Given the description of an element on the screen output the (x, y) to click on. 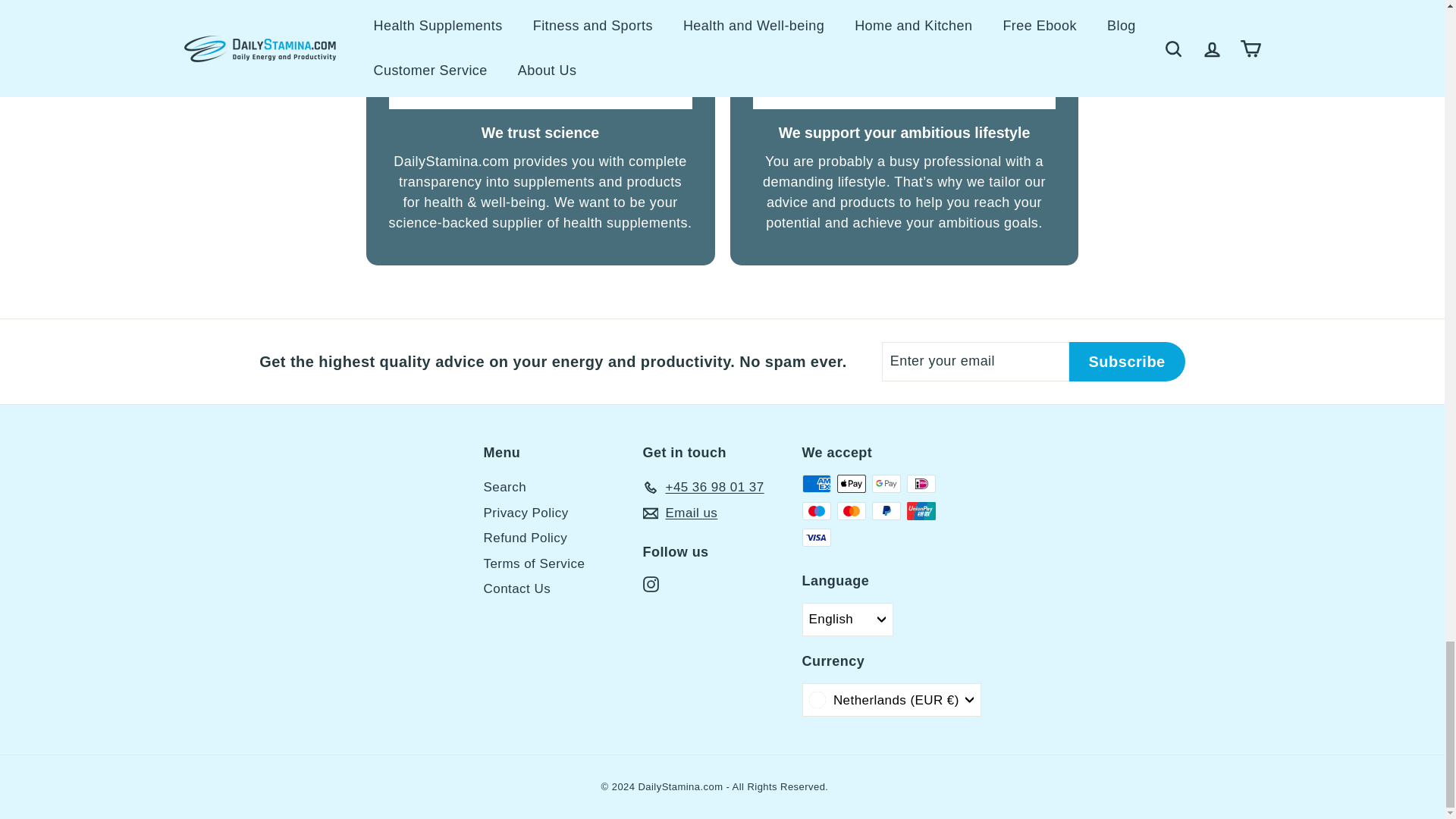
PayPal (886, 511)
Maestro (816, 511)
Google Pay (886, 484)
American Express (816, 484)
Union Pay (921, 511)
Mastercard (851, 511)
iDEAL (921, 484)
Apple Pay (851, 484)
